Given the description of an element on the screen output the (x, y) to click on. 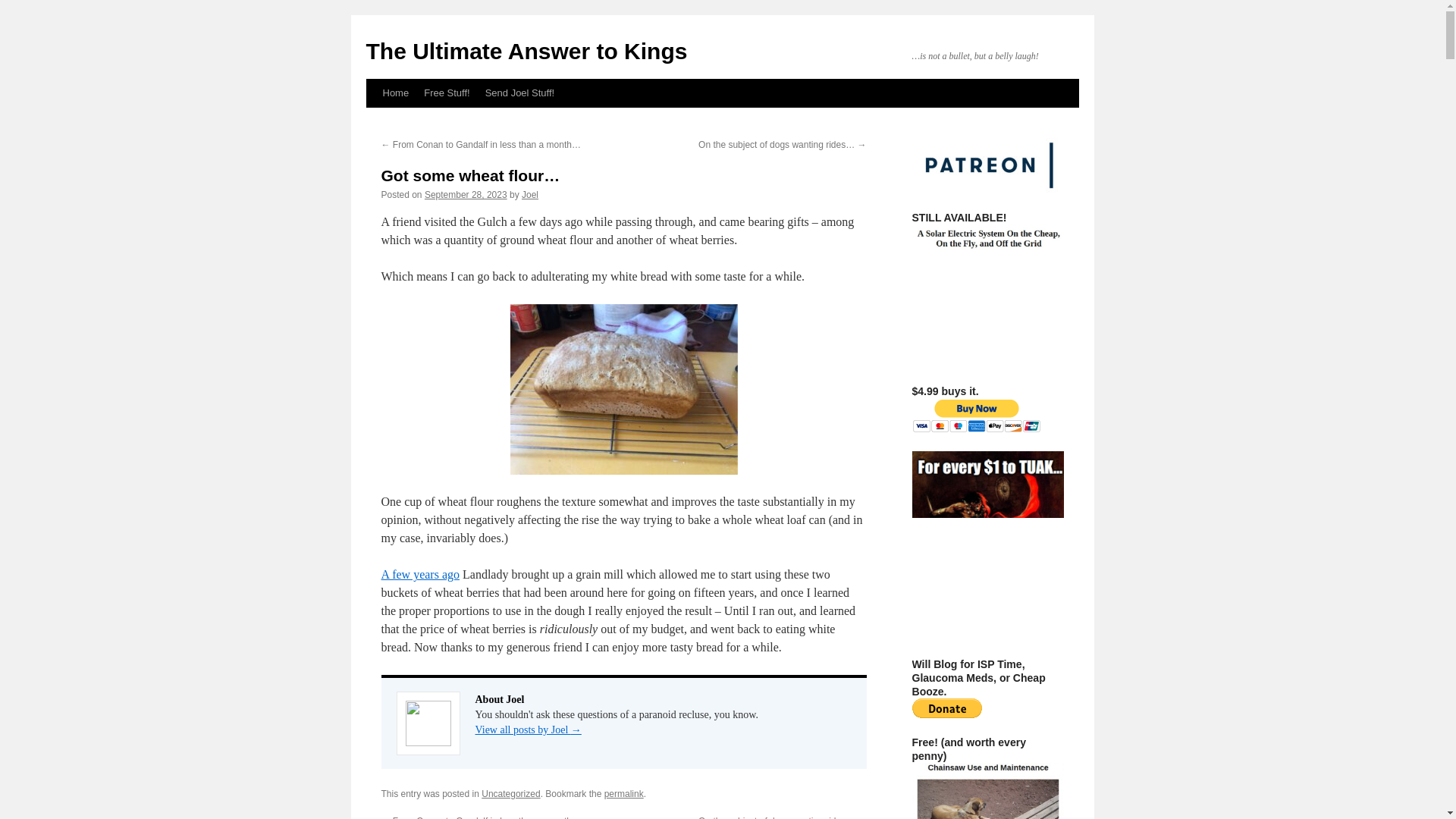
Free Stuff! (446, 92)
View all posts by Joel (529, 194)
permalink (623, 793)
Send Joel Stuff! (519, 92)
A few years ago (420, 574)
Joel (529, 194)
7:42 am (465, 194)
Home (395, 92)
September 28, 2023 (465, 194)
The Ultimate Answer to Kings (526, 50)
